Given the description of an element on the screen output the (x, y) to click on. 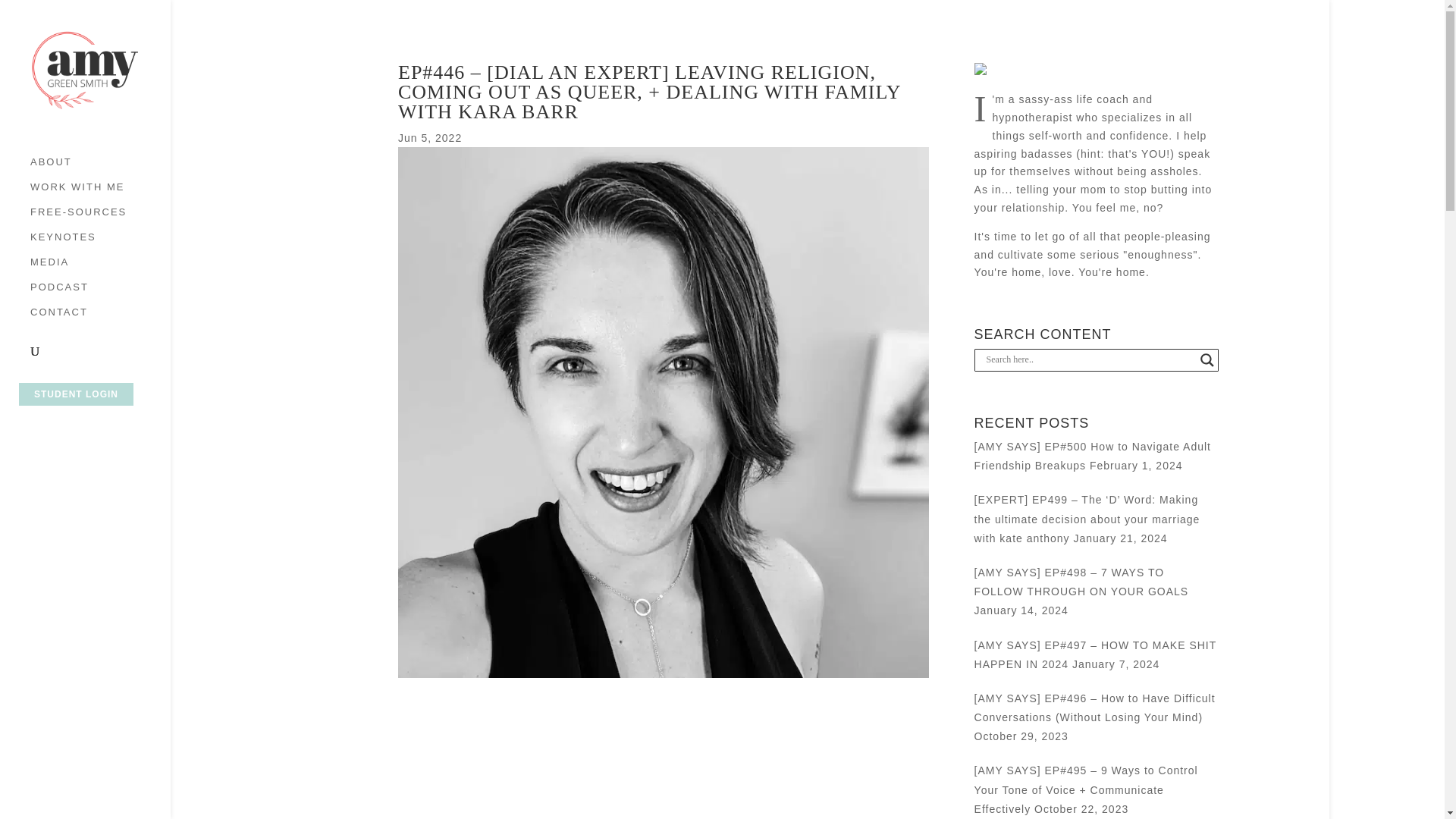
WORK WITH ME (100, 194)
CONTACT (100, 319)
Kara for post (662, 674)
MEDIA (100, 269)
STUDENT LOGIN (75, 394)
FREE-SOURCES (100, 219)
PODCAST (100, 294)
KEYNOTES (100, 244)
Embed Player (662, 749)
ABOUT (100, 169)
